Given the description of an element on the screen output the (x, y) to click on. 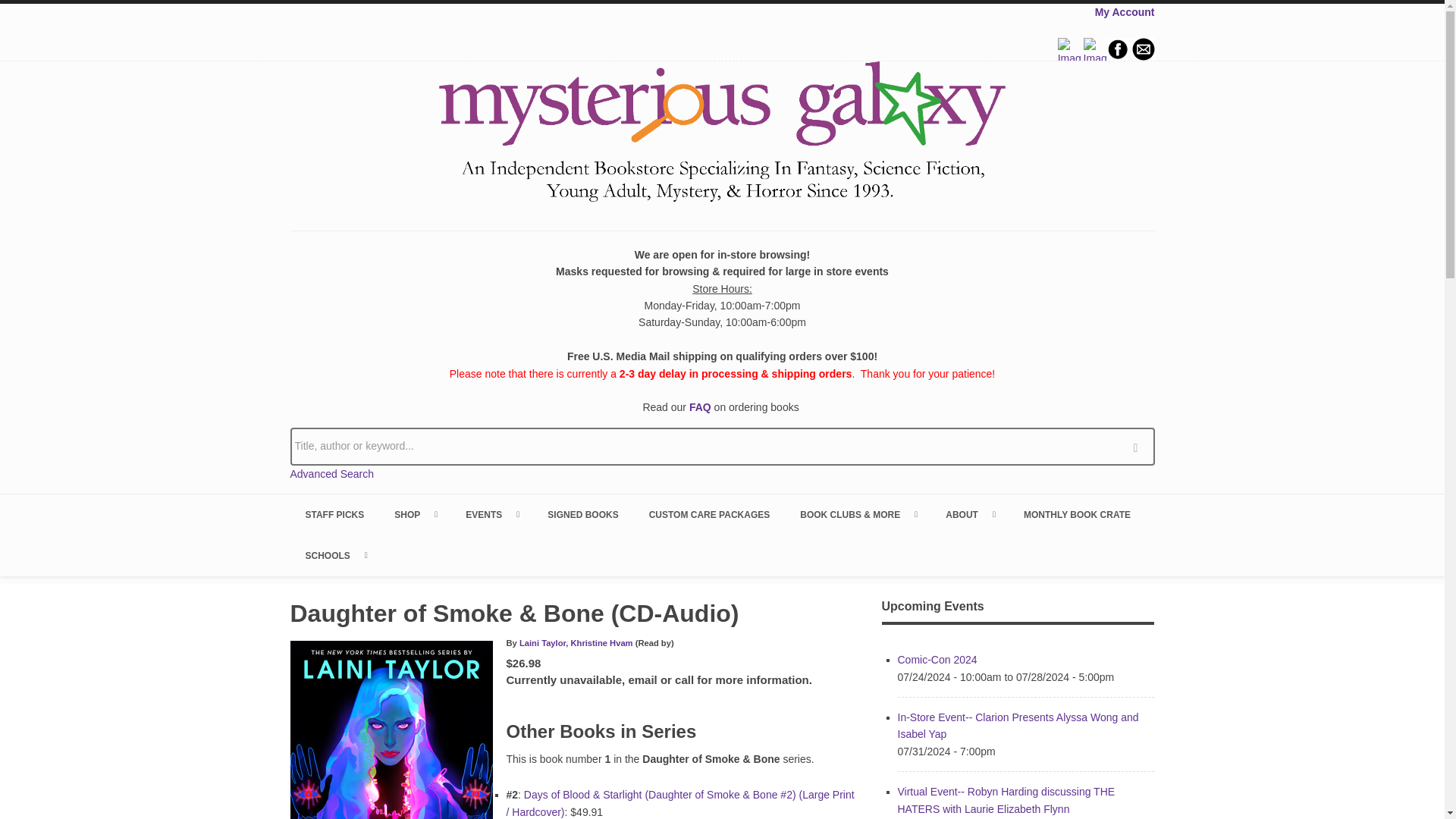
Title, author or keyword... (721, 446)
STAFF PICKS (333, 514)
SHOP (413, 514)
Advanced Search (331, 473)
EVENTS (490, 514)
Home (722, 134)
FAQ (699, 407)
My Account (1124, 11)
